Given the description of an element on the screen output the (x, y) to click on. 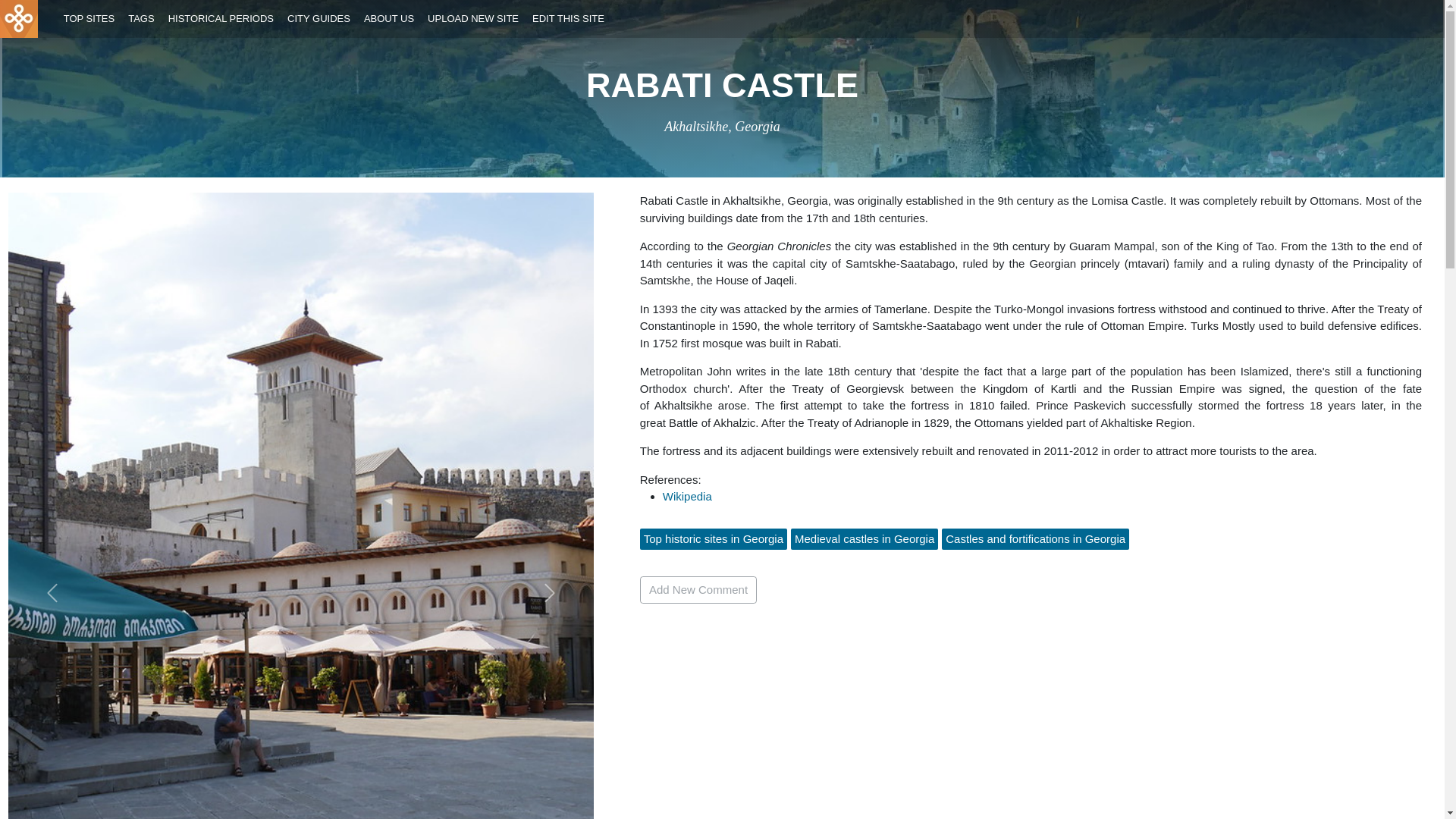
Akhaltsikhe, Georgia (720, 126)
Medieval castles in Georgia (864, 538)
Add New Comment (698, 589)
Display on map (720, 126)
ABOUT US (388, 18)
UPLOAD NEW SITE (473, 18)
Top historic sites in Georgia (713, 538)
Castles and fortifications in Georgia (1034, 538)
EDIT THIS SITE (568, 18)
